Given the description of an element on the screen output the (x, y) to click on. 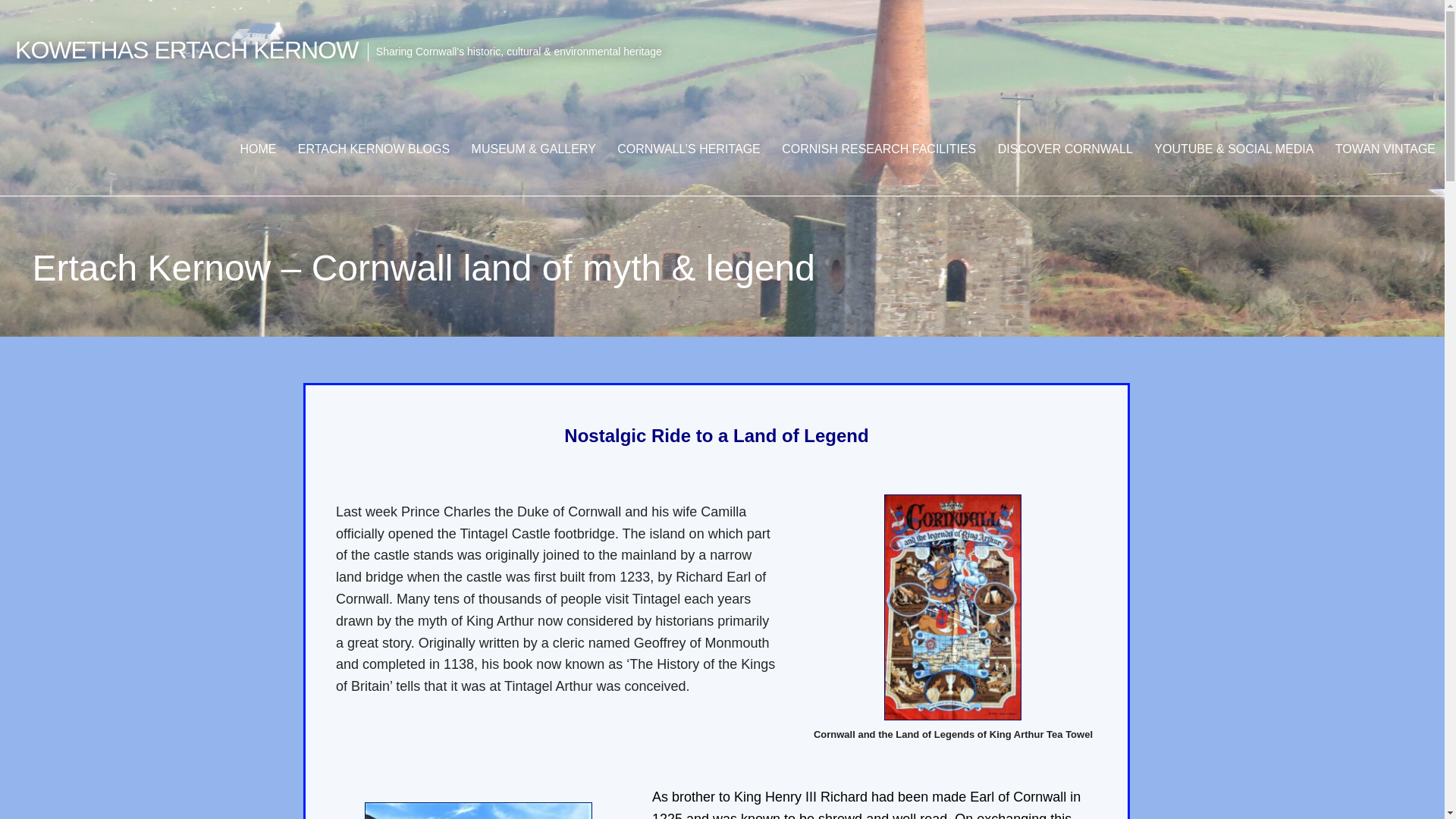
ERTACH KERNOW BLOGS (373, 148)
DISCOVER CORNWALL (1064, 148)
KOWETHAS ERTACH KERNOW (186, 49)
HOME (257, 148)
CORNISH RESEARCH FACILITIES (879, 148)
Tintagel Castle, Cornwall (478, 810)
